Given the description of an element on the screen output the (x, y) to click on. 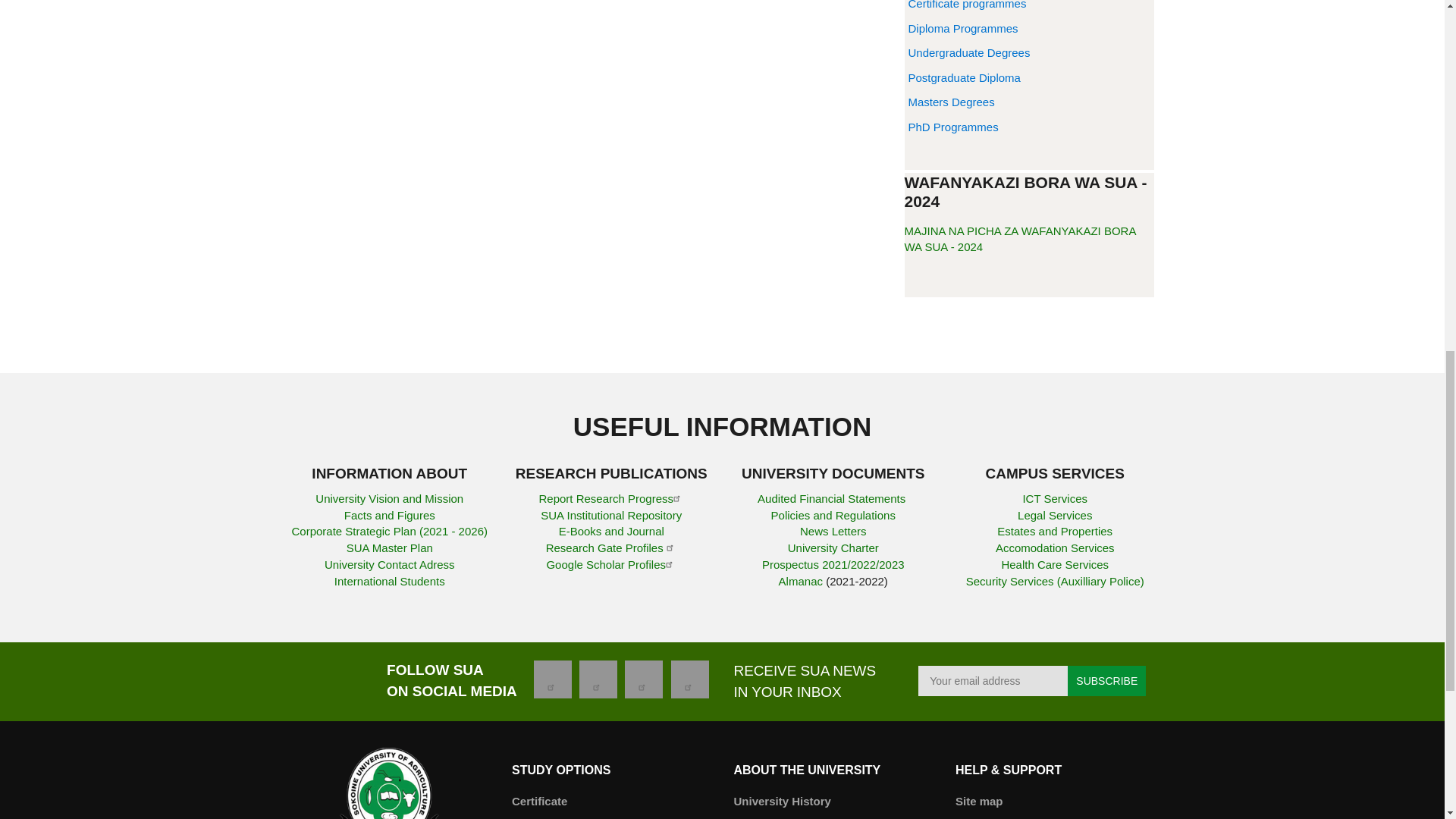
Subscribe (1106, 680)
